Given the description of an element on the screen output the (x, y) to click on. 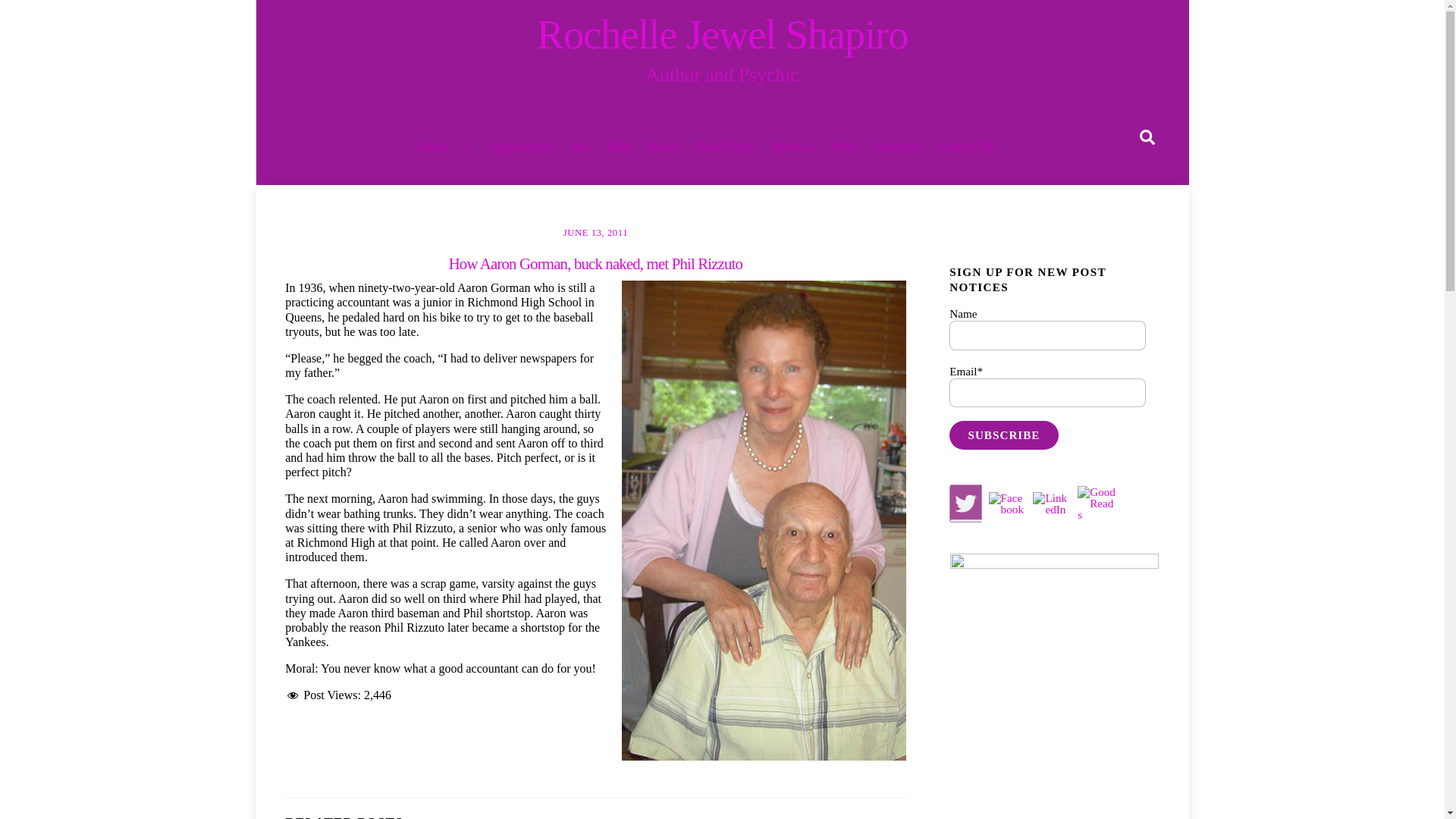
Subscribe (1003, 434)
Press (844, 145)
Blog (618, 145)
Book Clubs (724, 145)
Reviews (793, 145)
Home (445, 145)
Rochelle Jewel Shapiro (722, 34)
Contact Me (965, 145)
Search (1146, 136)
How Aaron Gorman, buck naked, met Phil Rizzuto (595, 262)
